Given the description of an element on the screen output the (x, y) to click on. 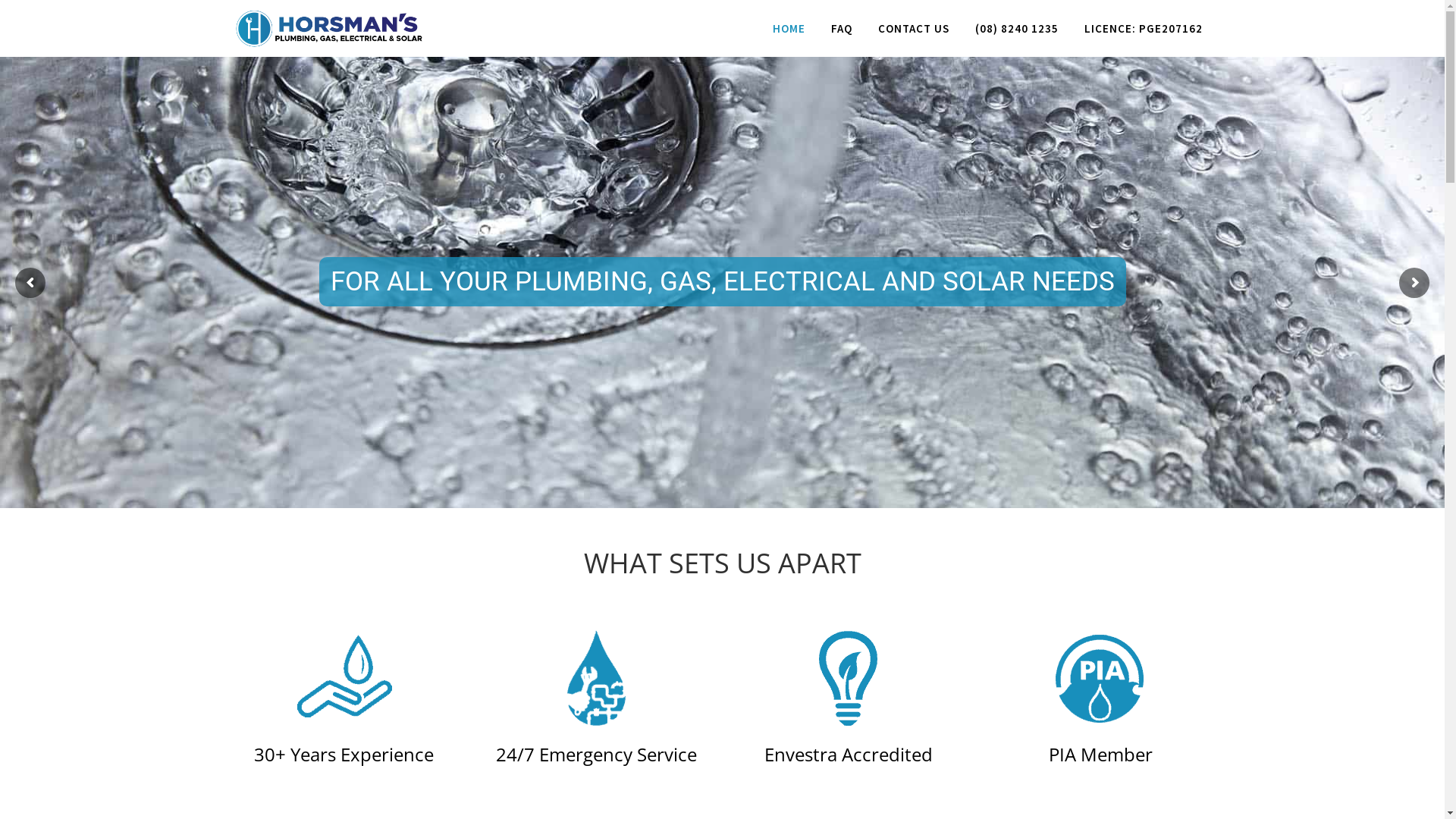
FAQ Element type: text (840, 28)
LICENCE: PGE207162 Element type: text (1142, 28)
(08) 8240 1235 Element type: text (1015, 28)
CONTACT US Element type: text (912, 28)
HOME Element type: text (788, 28)
